Given the description of an element on the screen output the (x, y) to click on. 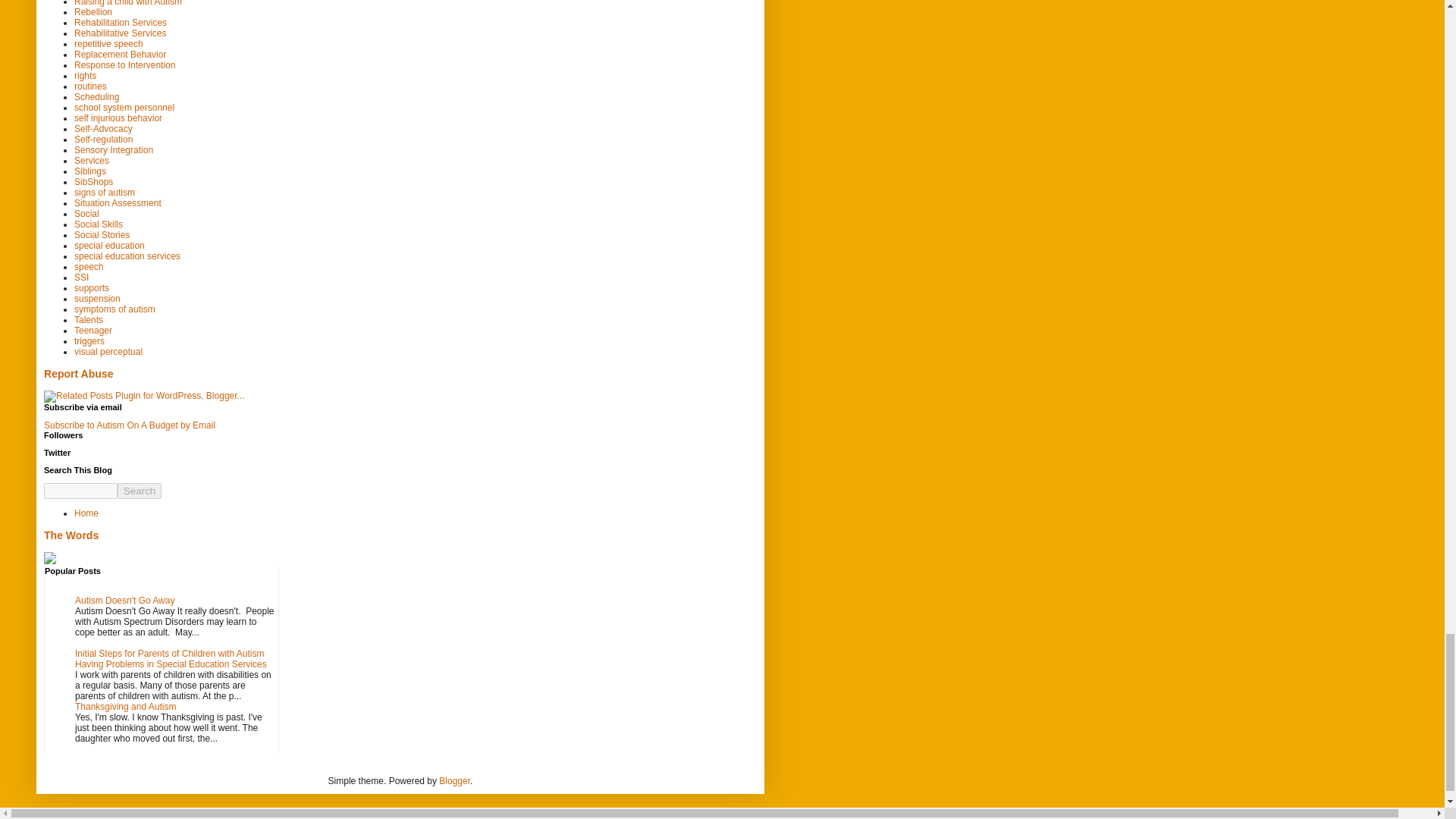
Search (139, 490)
search (139, 490)
search (80, 490)
Search (139, 490)
